Given the description of an element on the screen output the (x, y) to click on. 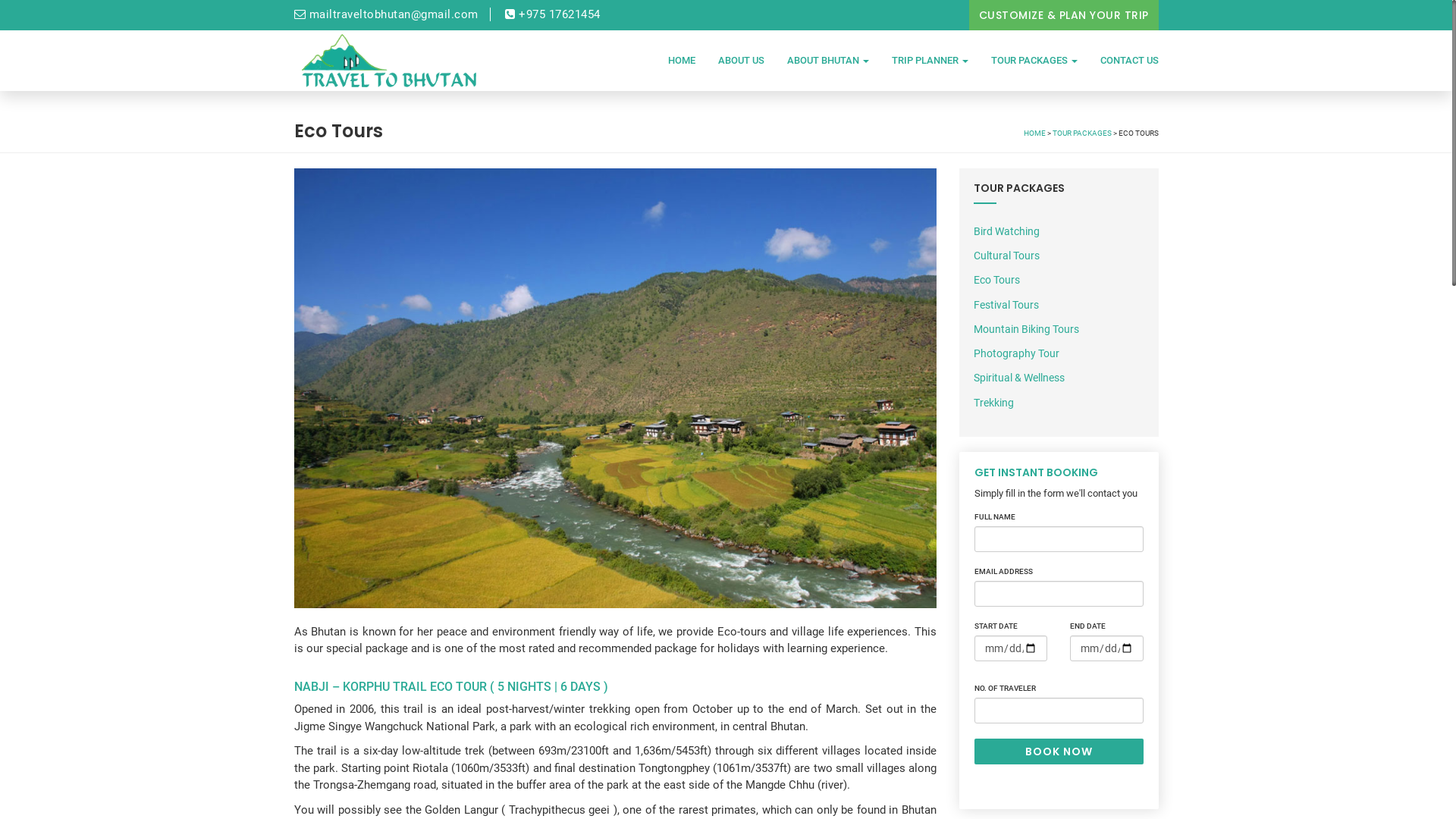
Eco Tours Element type: text (996, 279)
Bird Watching Element type: text (1006, 231)
ABOUT BHUTAN Element type: text (827, 60)
Photography Tour Element type: text (1016, 353)
Cultural Tours Element type: text (1006, 255)
CUSTOMIZE & PLAN YOUR TRIP Element type: text (1063, 15)
Festival Tours Element type: text (1005, 304)
TOUR PACKAGES Element type: text (1081, 132)
Book Now Element type: text (1058, 751)
HOME Element type: text (681, 60)
mailtraveltobhutan@gmail.com Element type: text (386, 14)
TRIP PLANNER Element type: text (929, 60)
HOME Element type: text (1034, 132)
+975 17621454 Element type: text (552, 14)
Trekking Element type: text (993, 402)
Mountain Biking Tours Element type: text (1026, 329)
CONTACT US Element type: text (1123, 60)
ABOUT US Element type: text (740, 60)
TOUR PACKAGES Element type: text (1033, 60)
Spiritual & Wellness Element type: text (1018, 377)
